Given the description of an element on the screen output the (x, y) to click on. 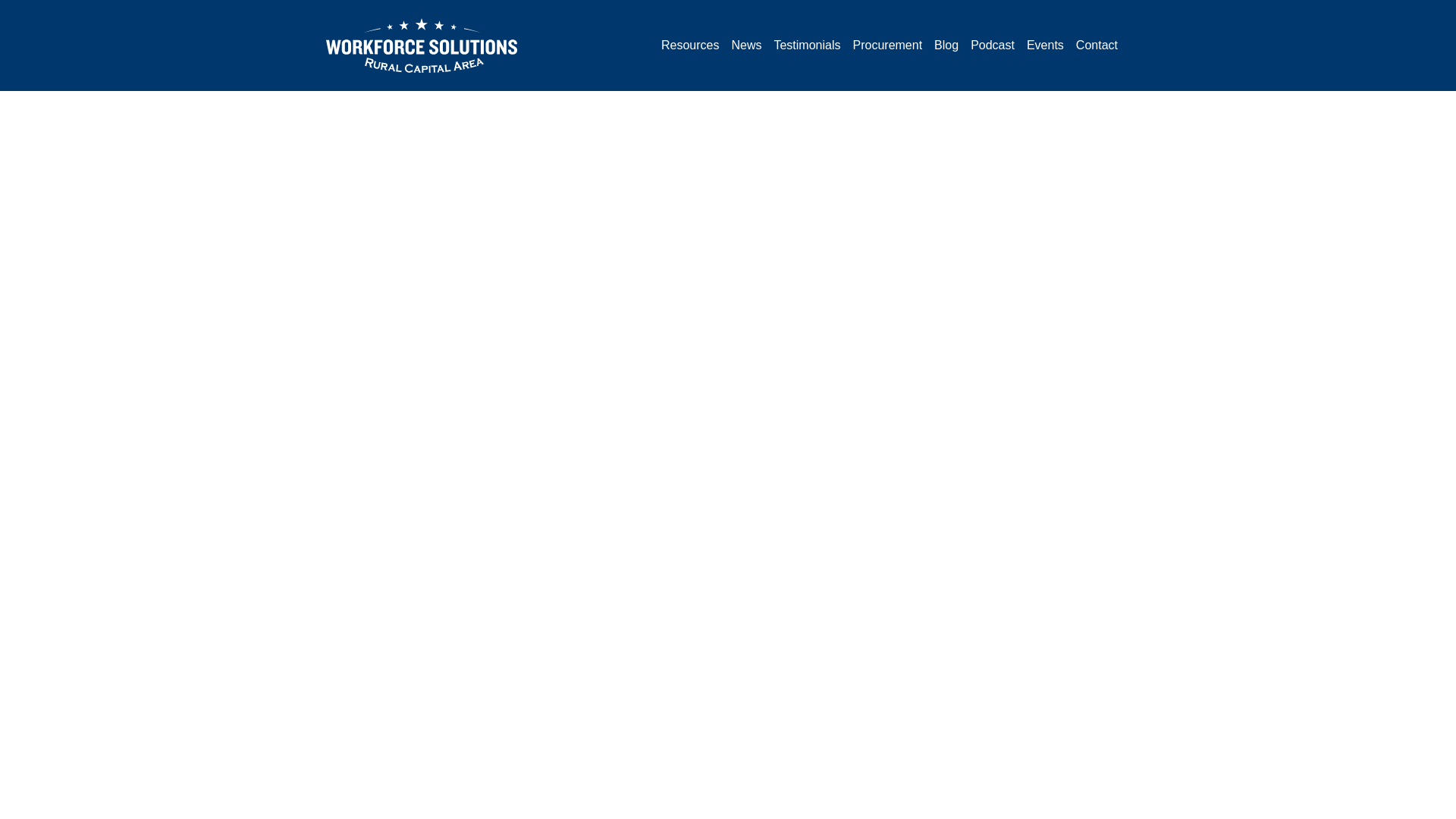
Workforce Solutions Rural Capital Area homepage (421, 45)
Podcast (992, 44)
Procurement (886, 44)
Testimonials (806, 44)
Contact (1096, 44)
Resources (690, 44)
